Given the description of an element on the screen output the (x, y) to click on. 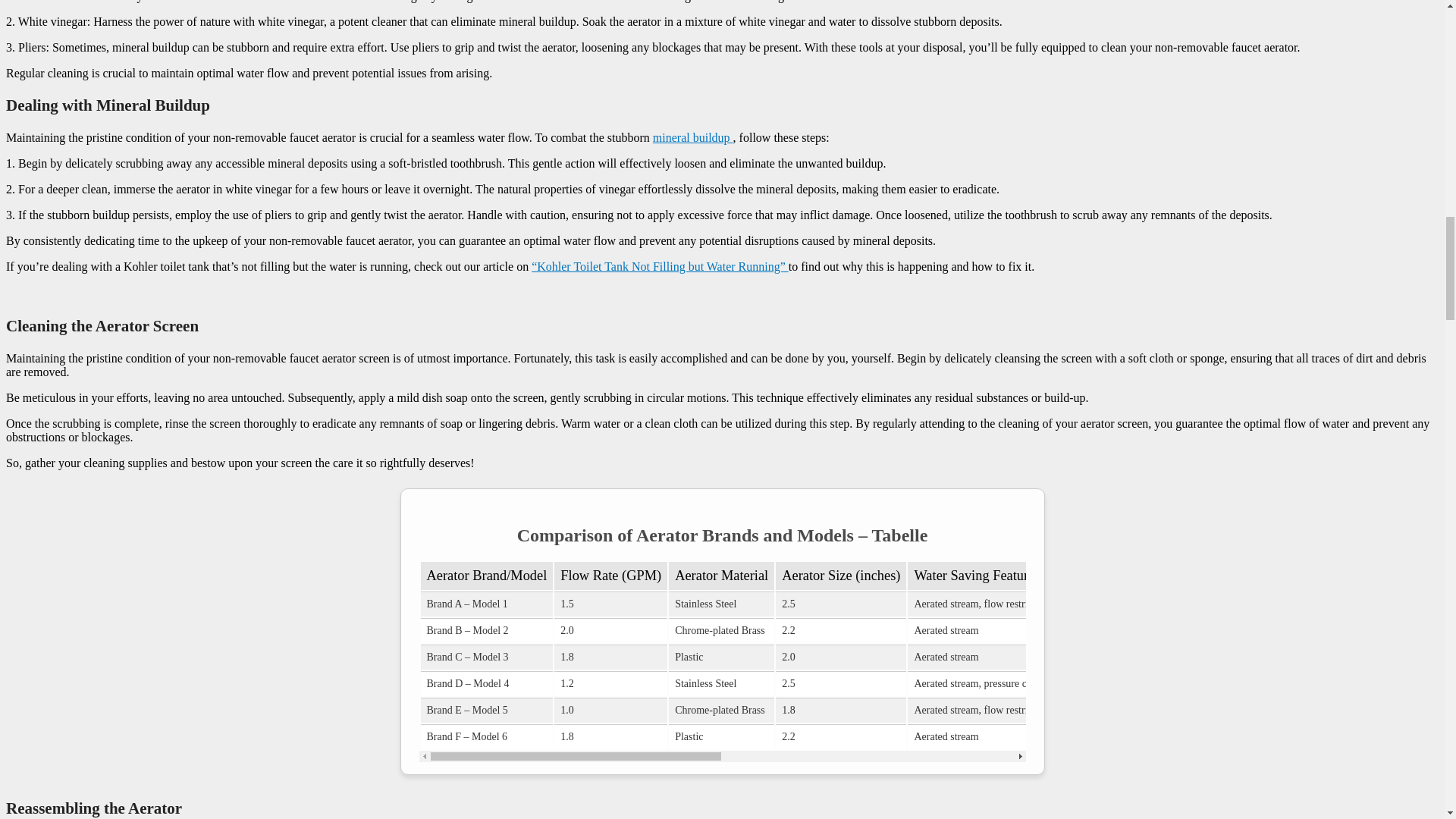
mineral buildup (692, 137)
